Given the description of an element on the screen output the (x, y) to click on. 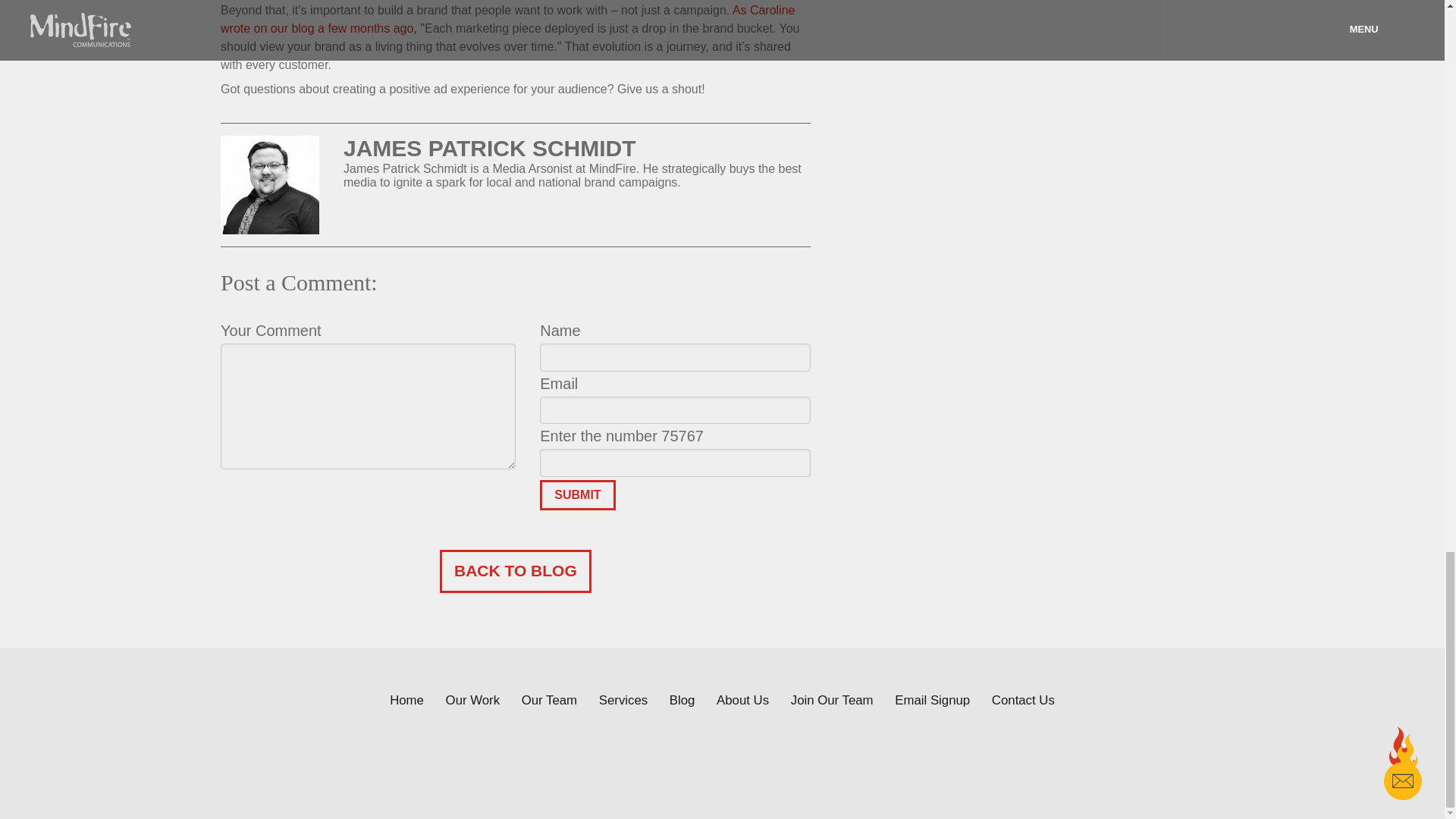
Our Team (548, 699)
Our Work (472, 699)
As Caroline wrote on our blog a few months ago, (507, 19)
Services (622, 699)
BACK TO BLOG (515, 570)
Home (406, 699)
SUBMIT (577, 494)
